Given the description of an element on the screen output the (x, y) to click on. 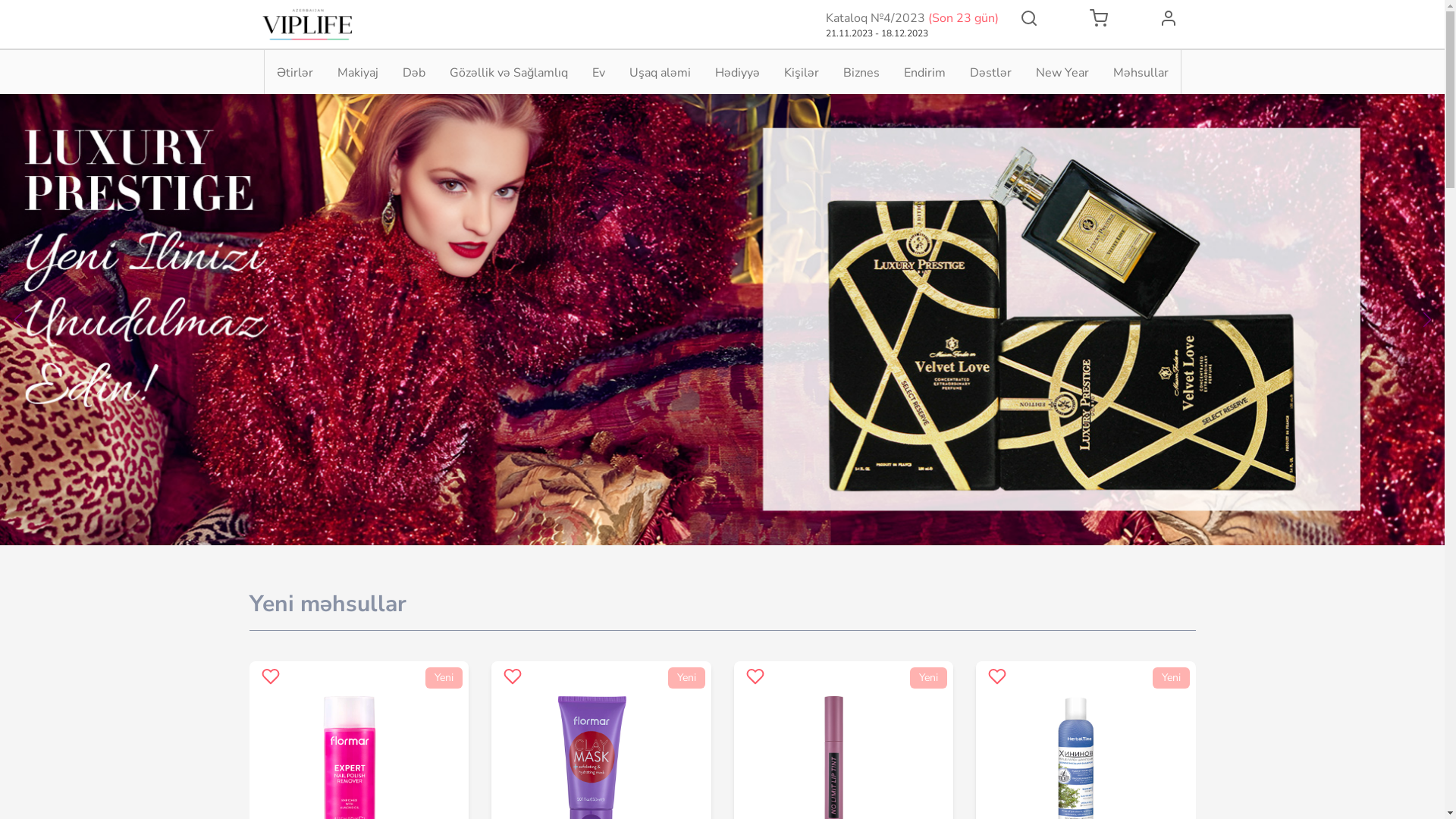
Ev Element type: text (597, 72)
Endirim Element type: text (924, 72)
Biznes Element type: text (861, 72)
Makiyaj Element type: text (356, 72)
New Year Element type: text (1061, 72)
Viplife.az - Change your life Element type: hover (305, 23)
Login Element type: hover (1167, 18)
